Given the description of an element on the screen output the (x, y) to click on. 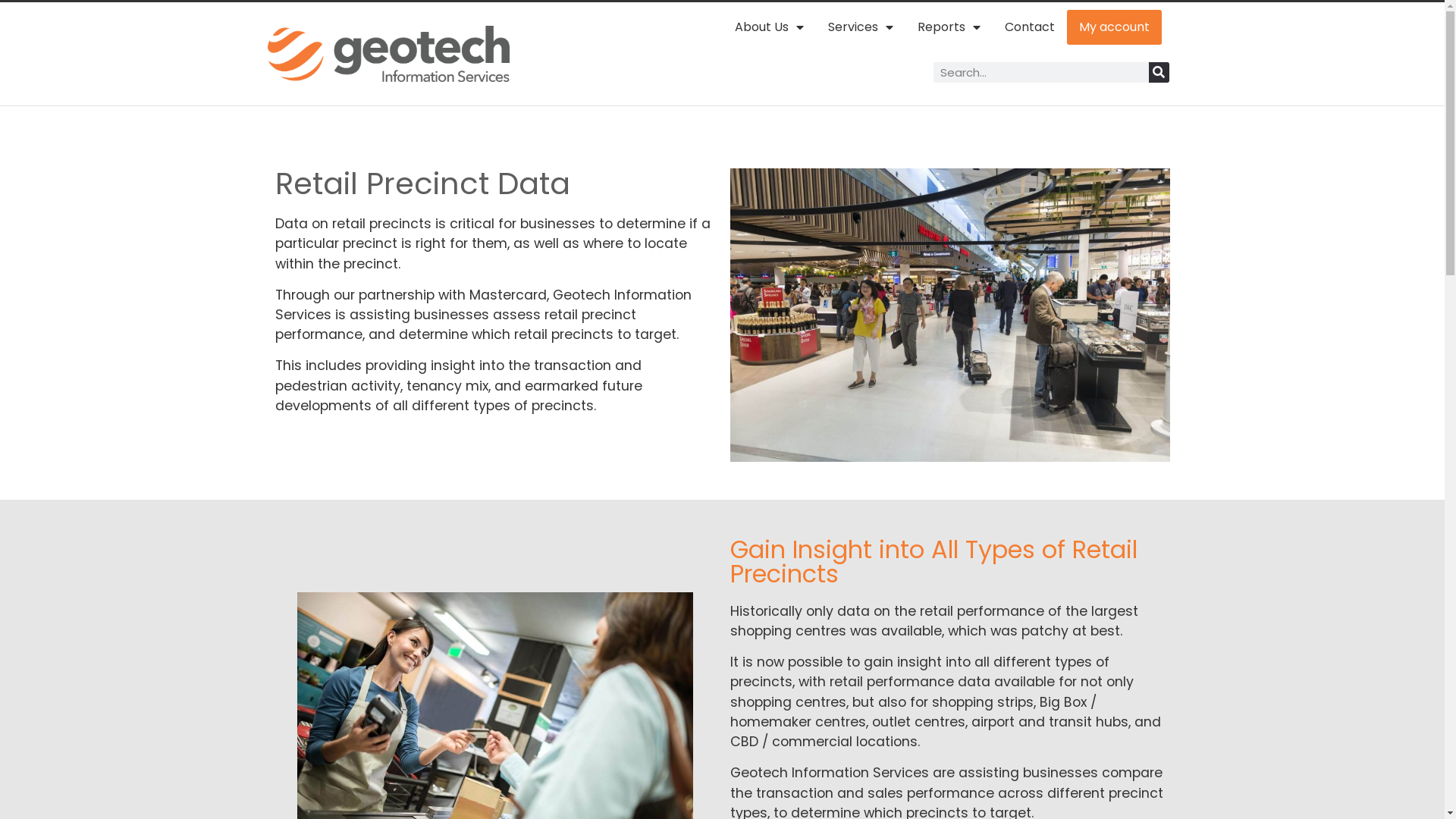
Reports Element type: text (948, 26)
Contact Element type: text (1029, 26)
My account Element type: text (1113, 26)
Services Element type: text (860, 26)
About Us Element type: text (768, 26)
